Given the description of an element on the screen output the (x, y) to click on. 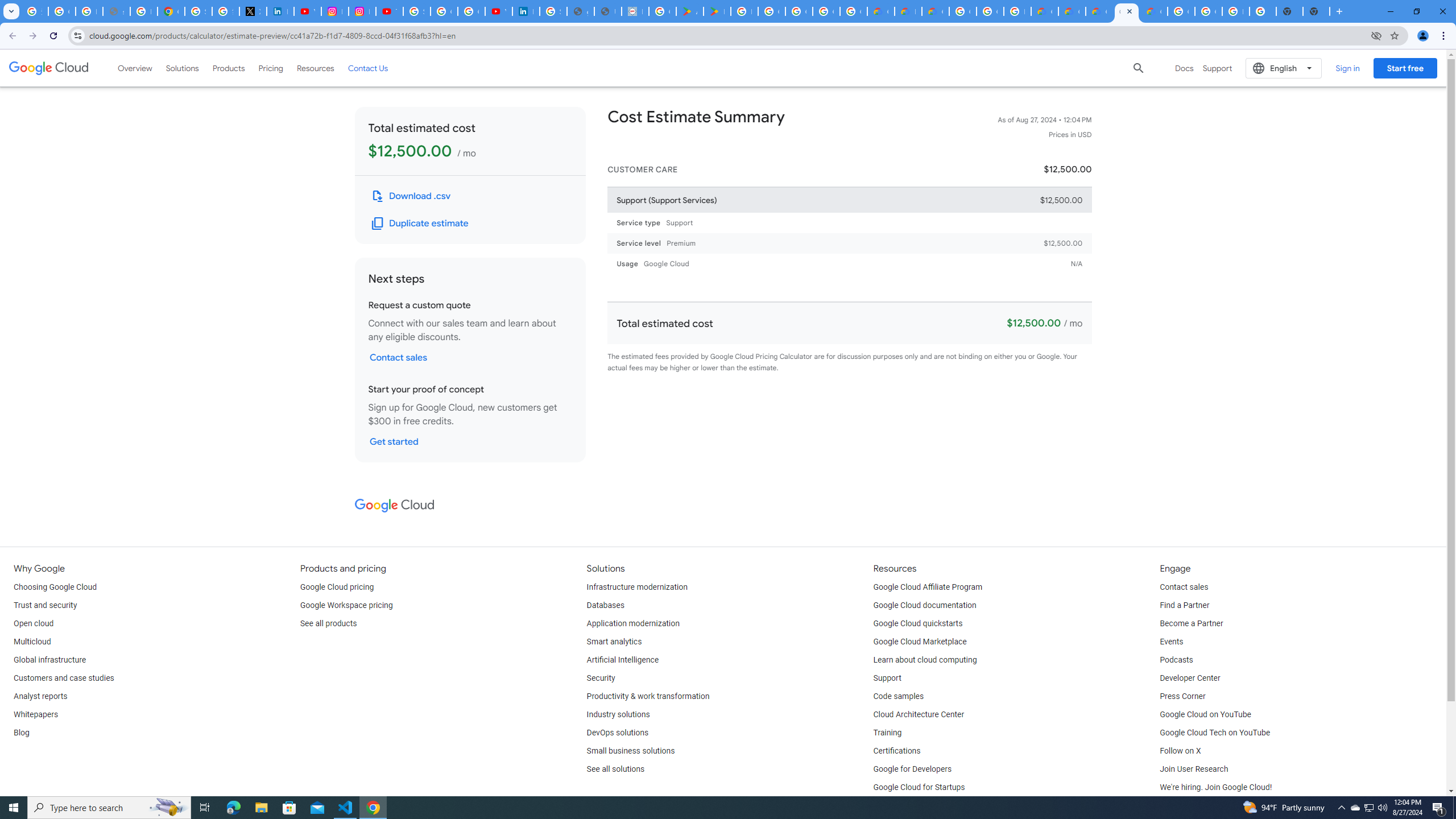
Google Cloud Estimate Summary (1099, 11)
Google Cloud Platform (1208, 11)
Google Cloud Marketplace (919, 642)
Application modernization (632, 624)
Google Cloud (393, 505)
Events (1170, 642)
X (253, 11)
Infrastructure modernization (637, 587)
